Given the description of an element on the screen output the (x, y) to click on. 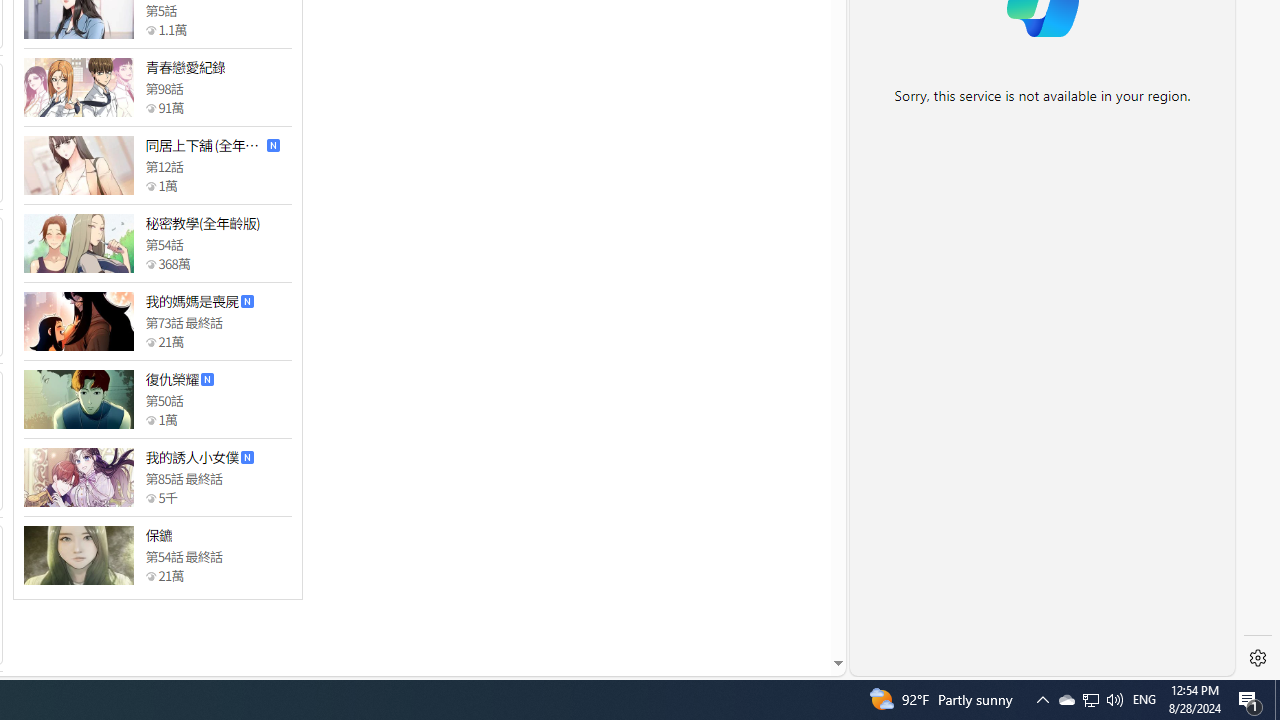
Settings (1258, 658)
Class: epicon_starpoint (150, 575)
